Given the description of an element on the screen output the (x, y) to click on. 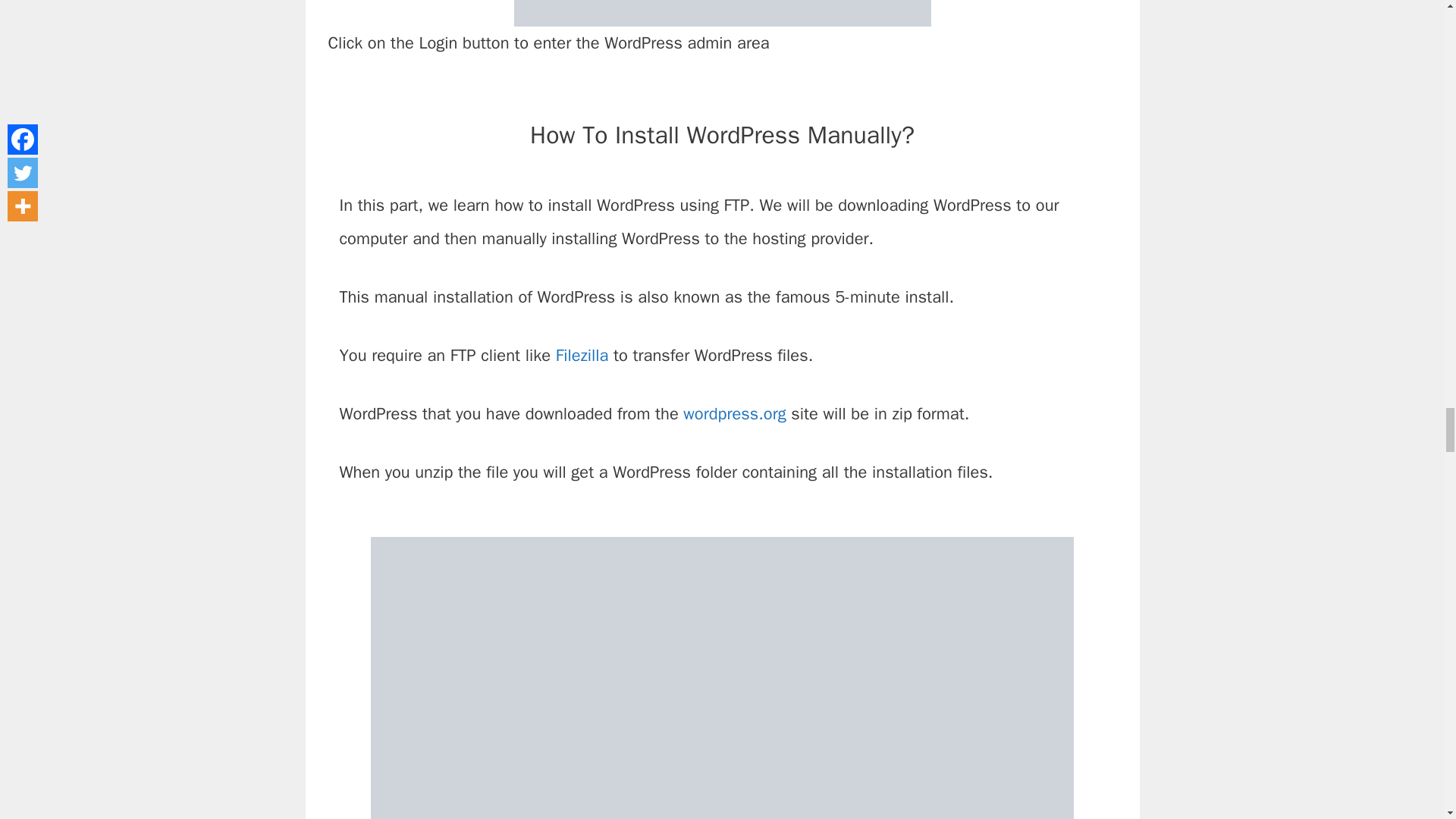
Filezilla (582, 355)
wordpress.org (734, 414)
